Given the description of an element on the screen output the (x, y) to click on. 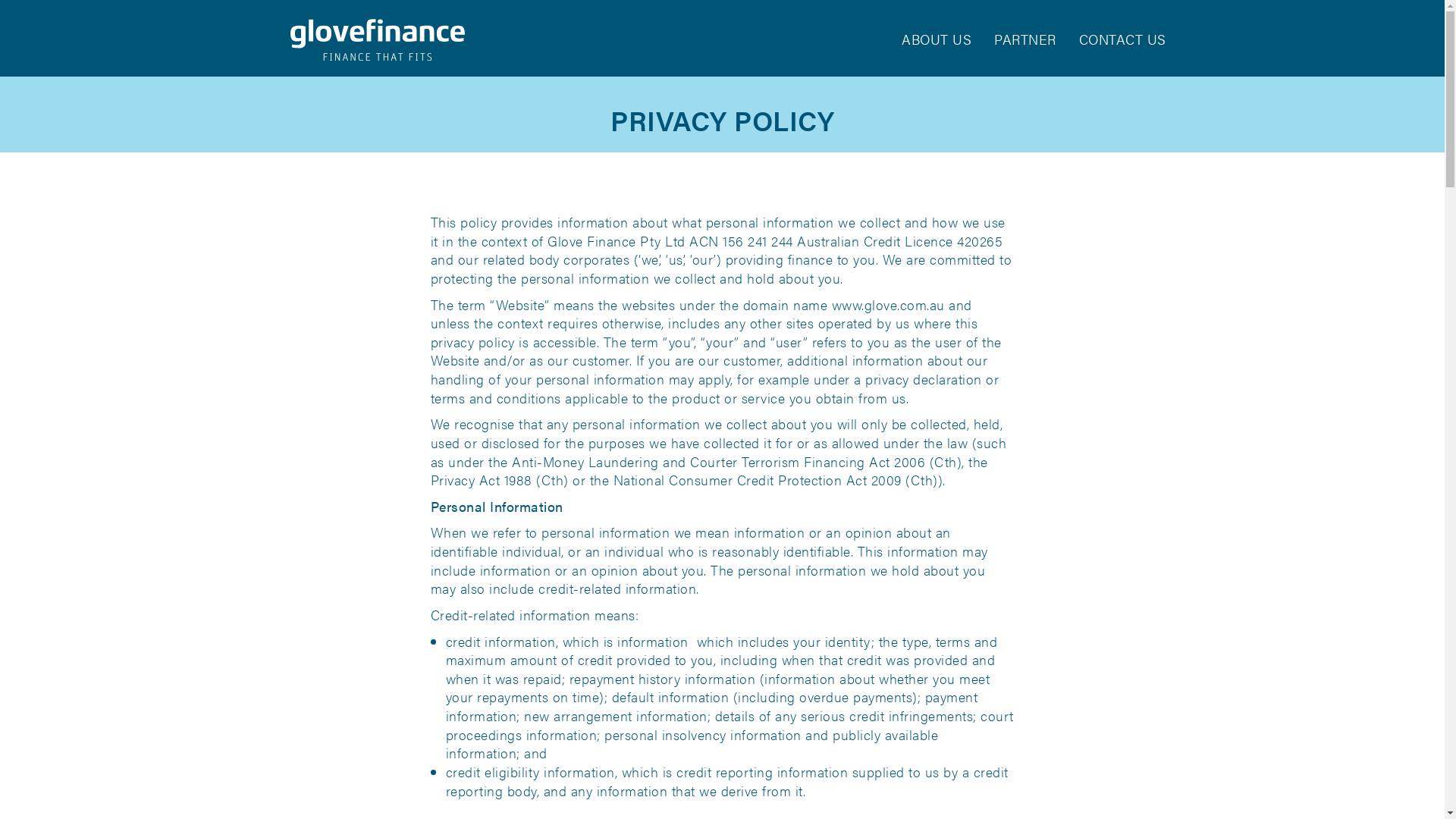
ABOUT US Element type: text (936, 39)
PARTNER Element type: text (1024, 39)
Glove Finance Element type: text (376, 39)
CONTACT US Element type: text (1122, 39)
